Given the description of an element on the screen output the (x, y) to click on. 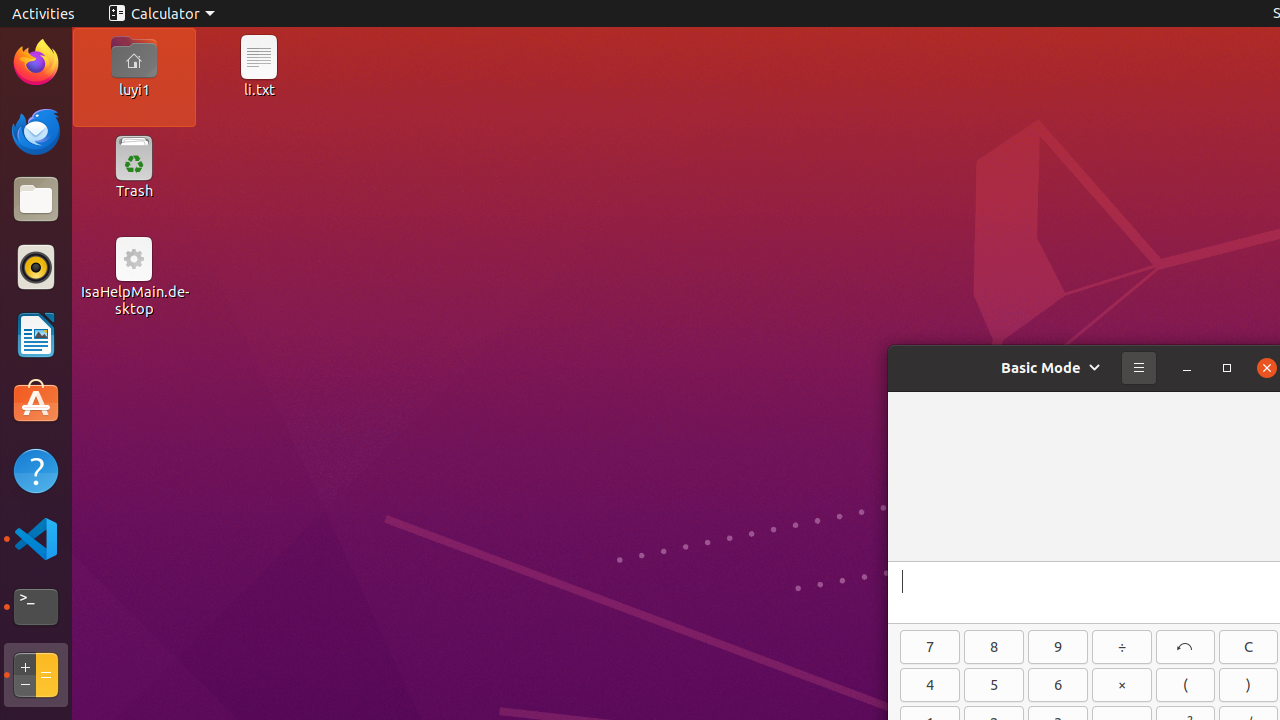
( Element type: push-button (1185, 685)
8 Element type: push-button (994, 647)
÷ Element type: push-button (1122, 647)
Mode selection Element type: toggle-button (1051, 367)
